Given the description of an element on the screen output the (x, y) to click on. 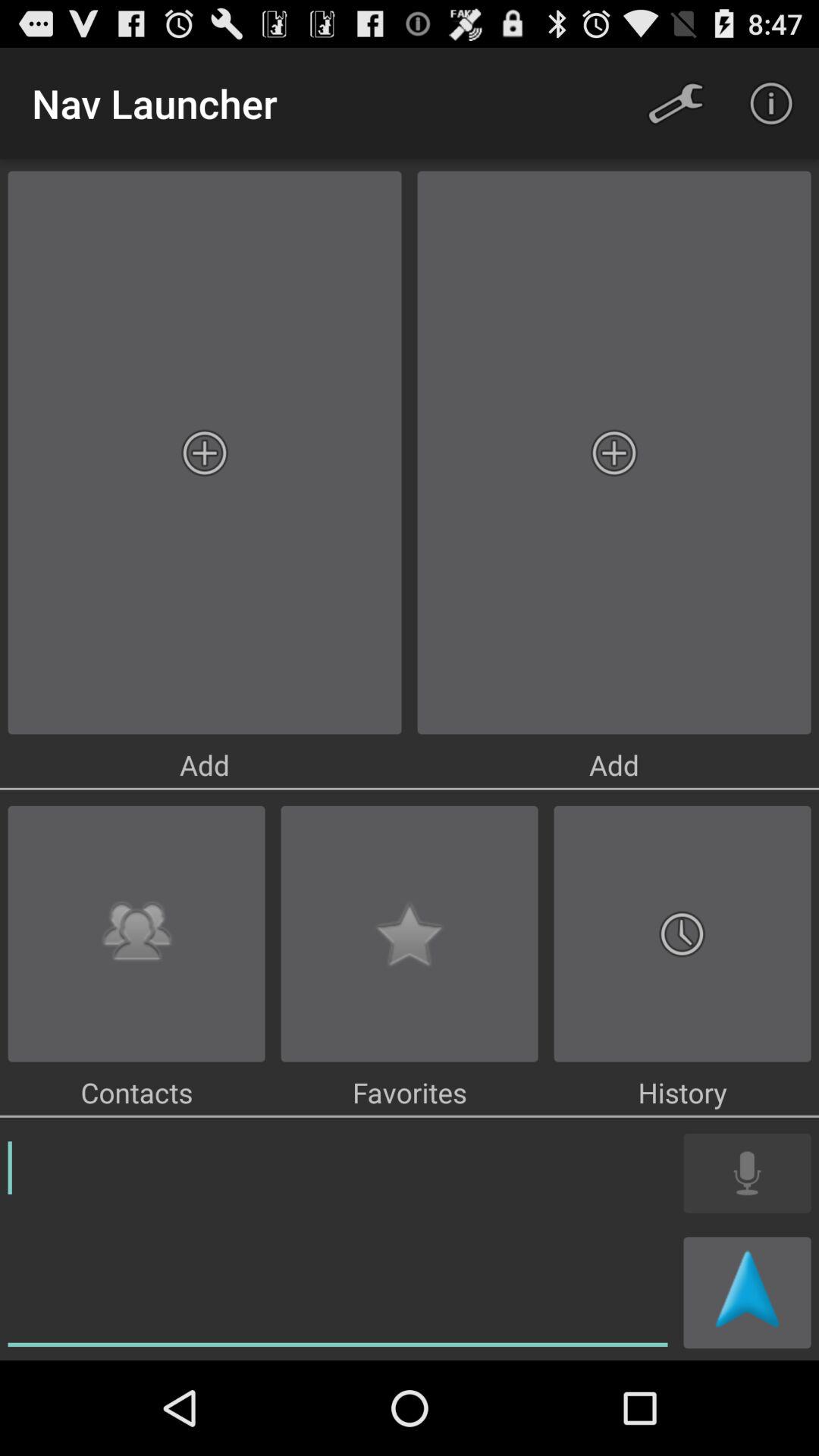
add a note (337, 1240)
